Given the description of an element on the screen output the (x, y) to click on. 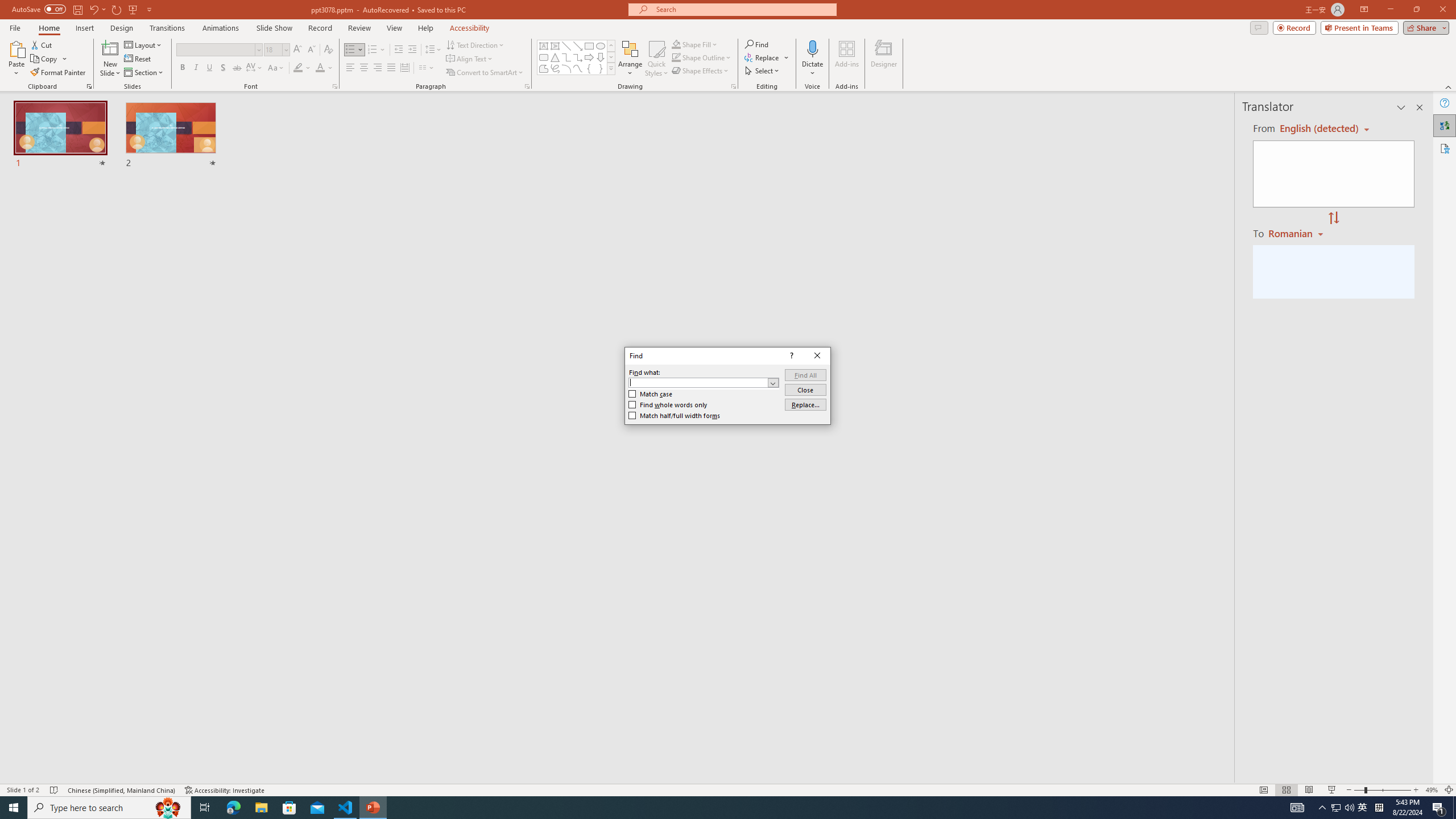
Zoom 49% (1431, 790)
